Given the description of an element on the screen output the (x, y) to click on. 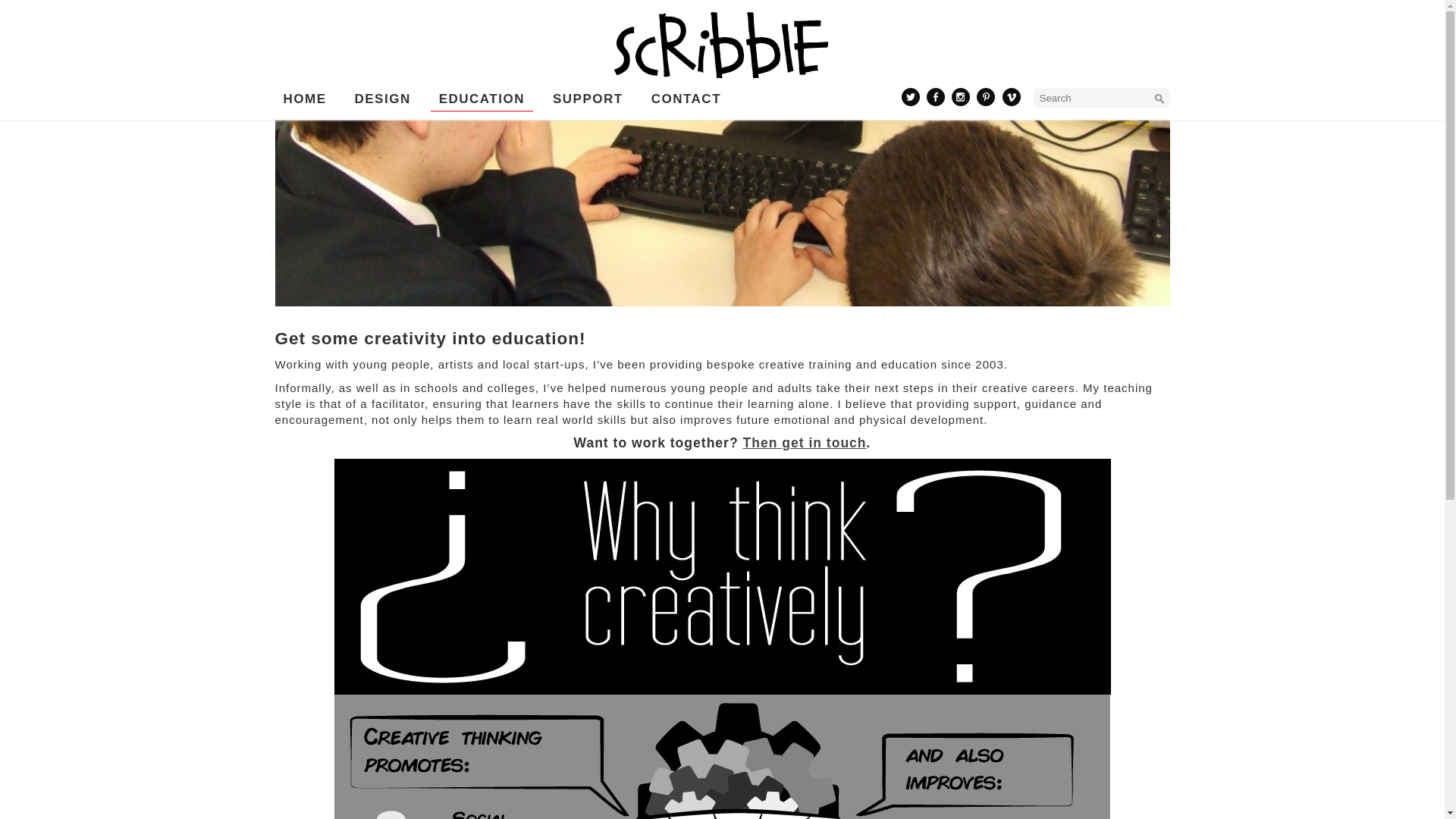
SUPPORT (587, 98)
Then get in touch (804, 442)
CONTACT (686, 98)
DESIGN (382, 98)
EDUCATION (481, 98)
HOME (304, 98)
